Given the description of an element on the screen output the (x, y) to click on. 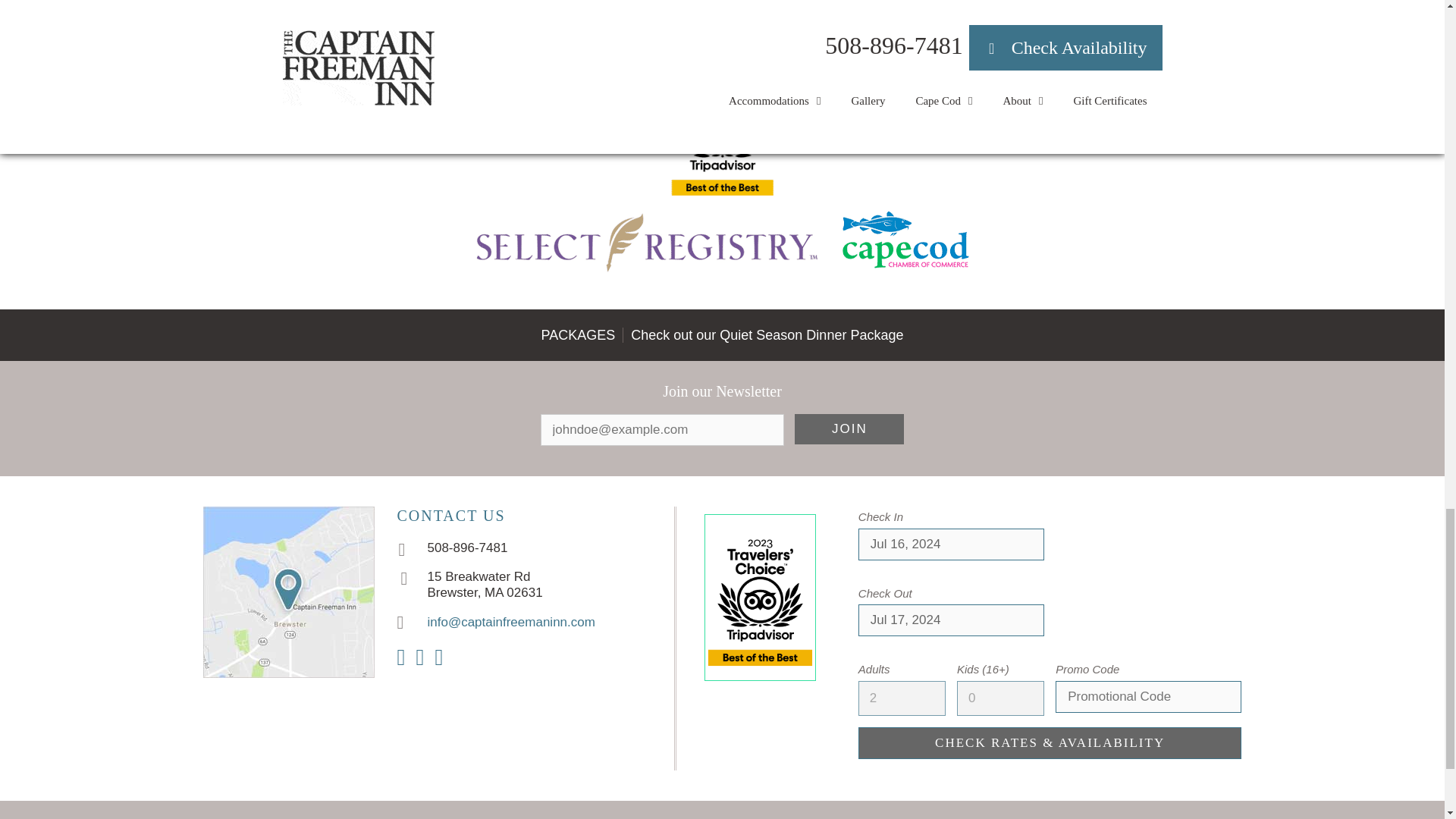
Jul 16, 2024 (951, 544)
Join (849, 429)
Jul 17, 2024 (951, 620)
